Given the description of an element on the screen output the (x, y) to click on. 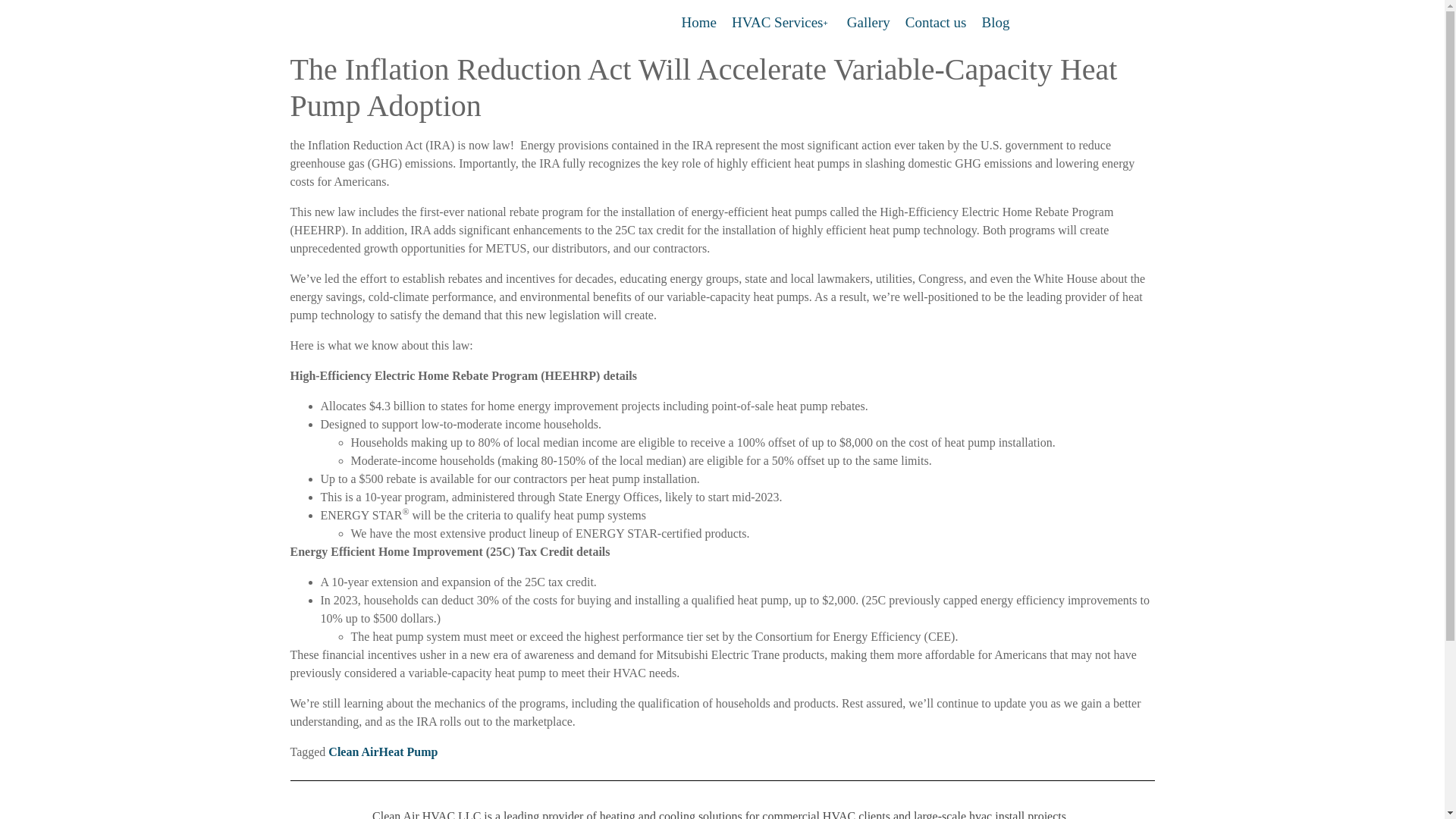
Heat Pump (408, 751)
Contact us (936, 22)
Gallery (869, 22)
Home (698, 22)
HVAC Services (781, 22)
Blog (995, 22)
Clean Air (353, 751)
